Given the description of an element on the screen output the (x, y) to click on. 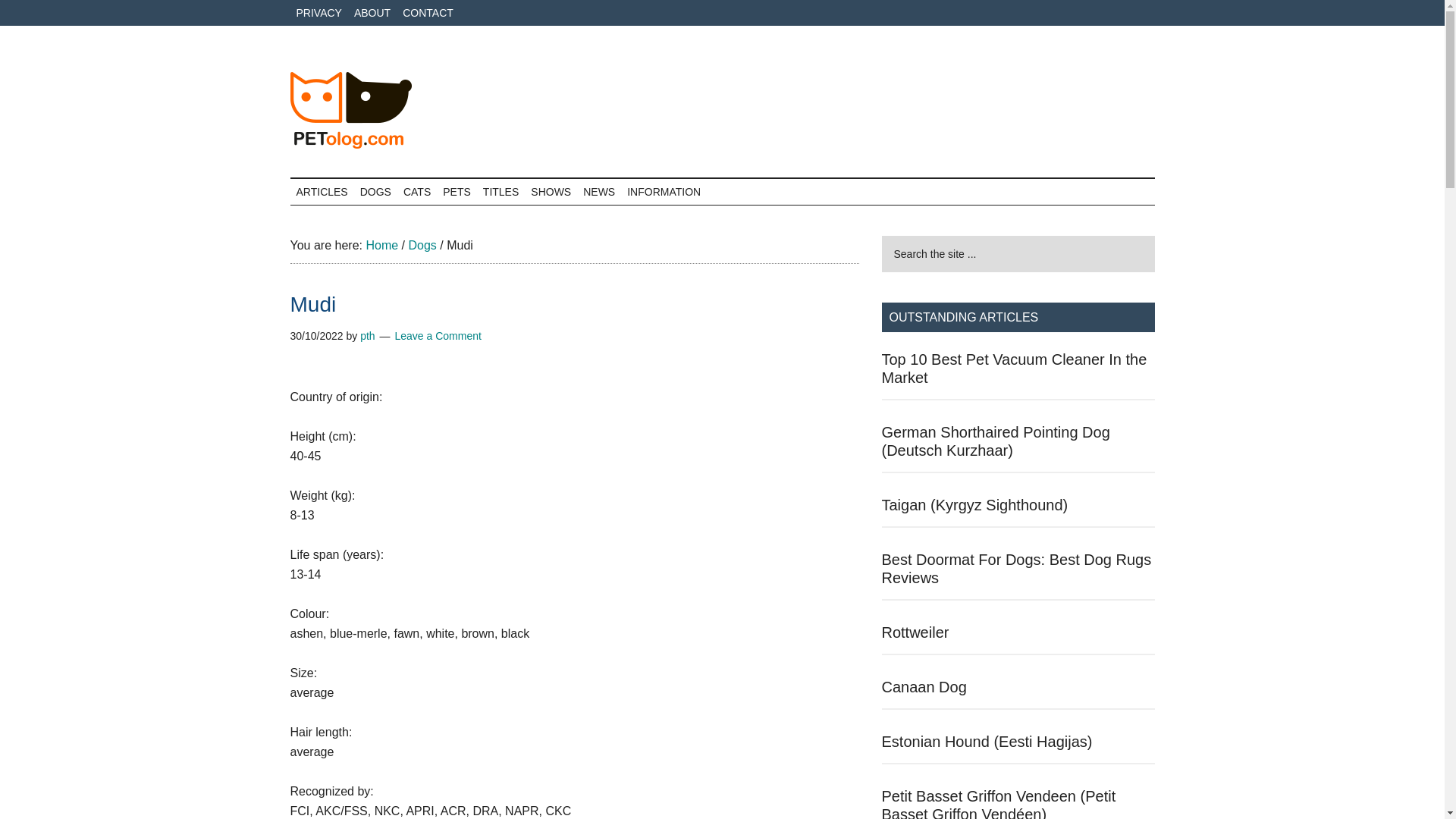
INFORMATION (663, 191)
ABOUT (371, 12)
CONTACT (428, 12)
Rottweiler (914, 632)
pth (366, 336)
Best Doormat For Dogs: Best Dog Rugs Reviews (1015, 568)
SHOWS (550, 191)
DOGS (375, 191)
